Given the description of an element on the screen output the (x, y) to click on. 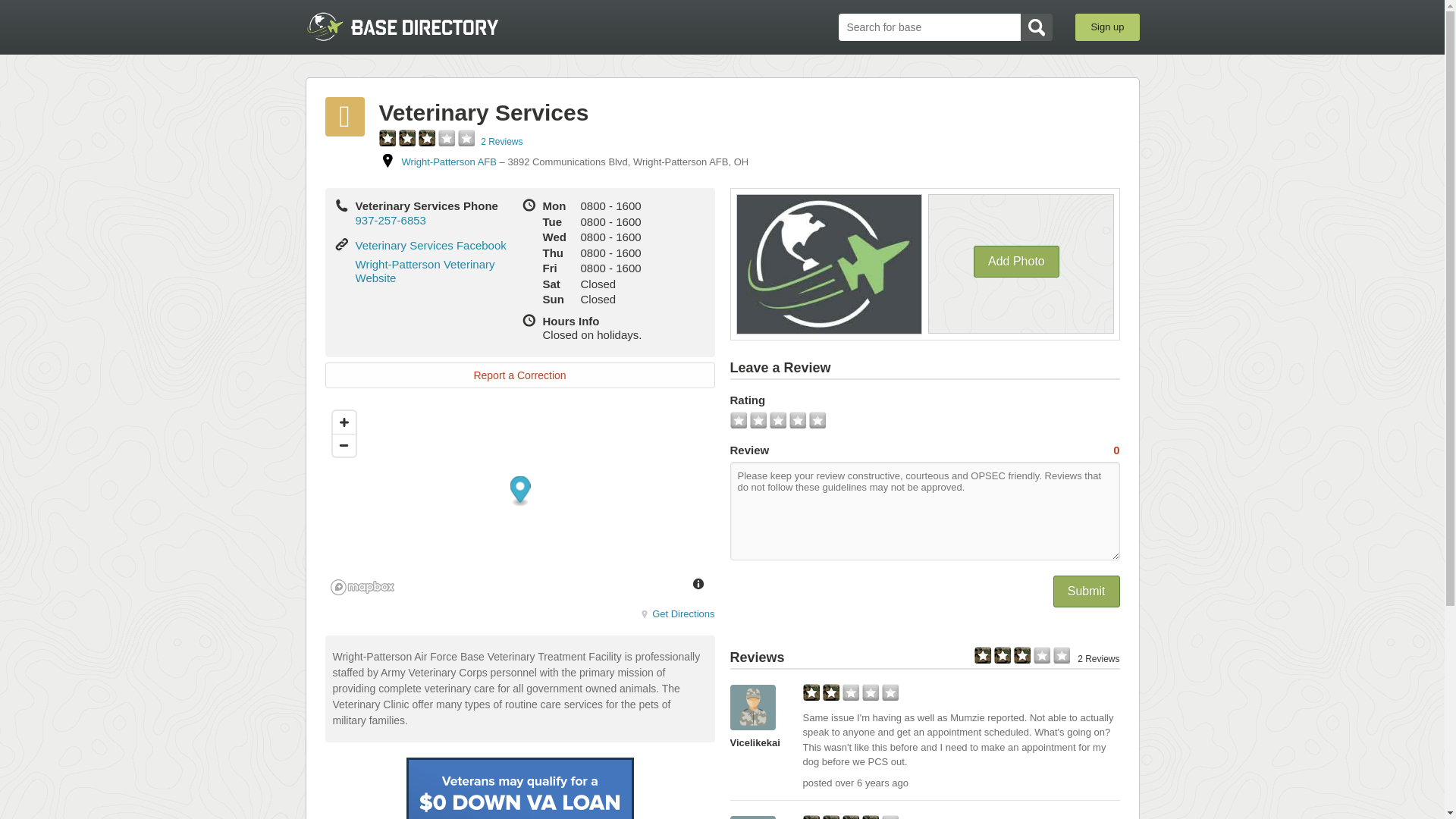
Zoom in (343, 422)
Sign up (722, 392)
Veterinary Services Facebook (430, 245)
Submit (1085, 591)
BaseDirectory.com (415, 26)
2 Reviews (501, 141)
Sign up (1106, 26)
Zoom out (343, 445)
Get Directions (677, 613)
Wright-Patterson AFB (448, 161)
Log in (722, 317)
937-257-6853 (390, 219)
Wright-Patterson Veterinary Website (425, 270)
Add Photo (1016, 261)
Report a Correction (519, 375)
